Given the description of an element on the screen output the (x, y) to click on. 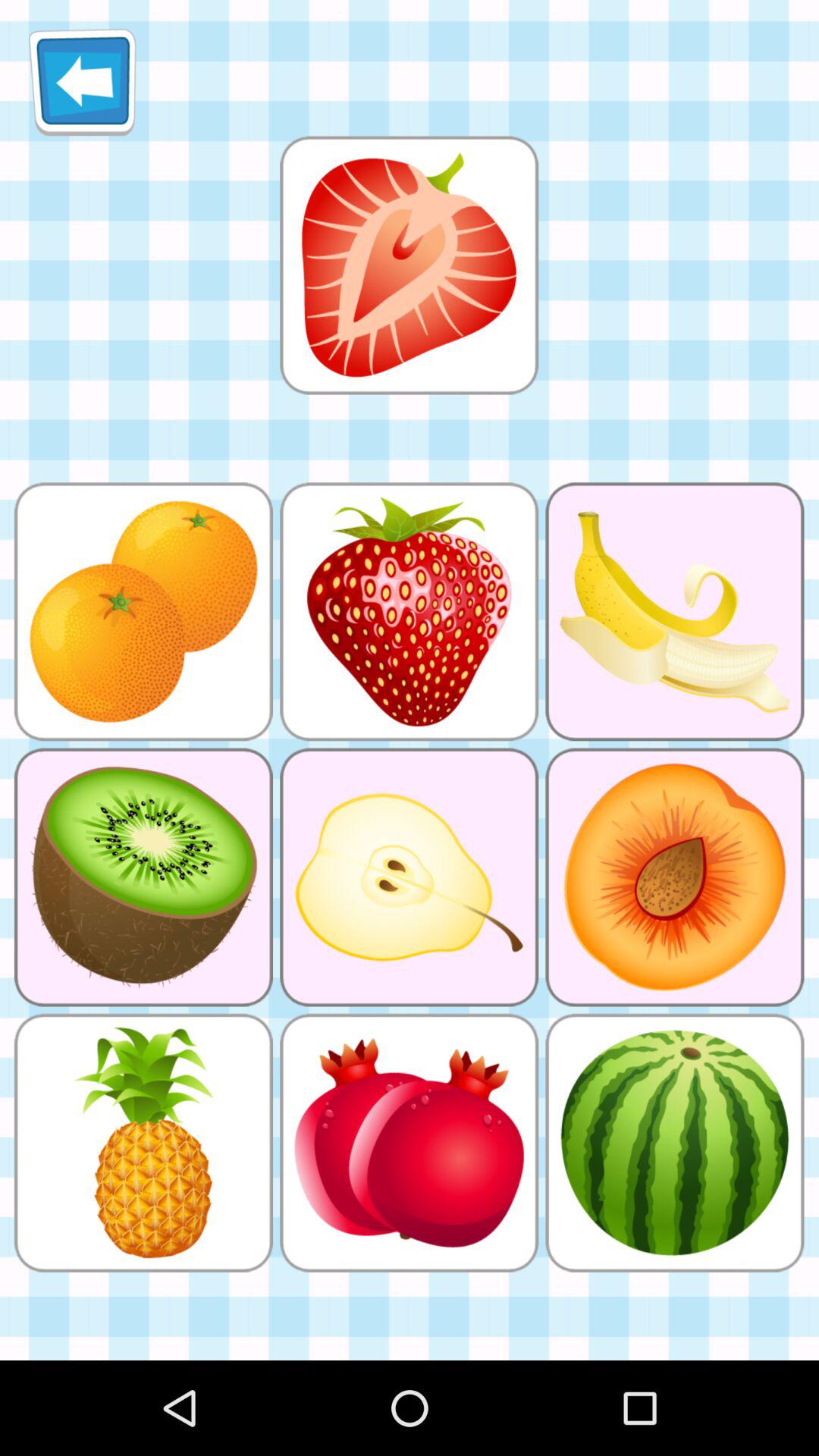
cut the fruit (409, 265)
